Given the description of an element on the screen output the (x, y) to click on. 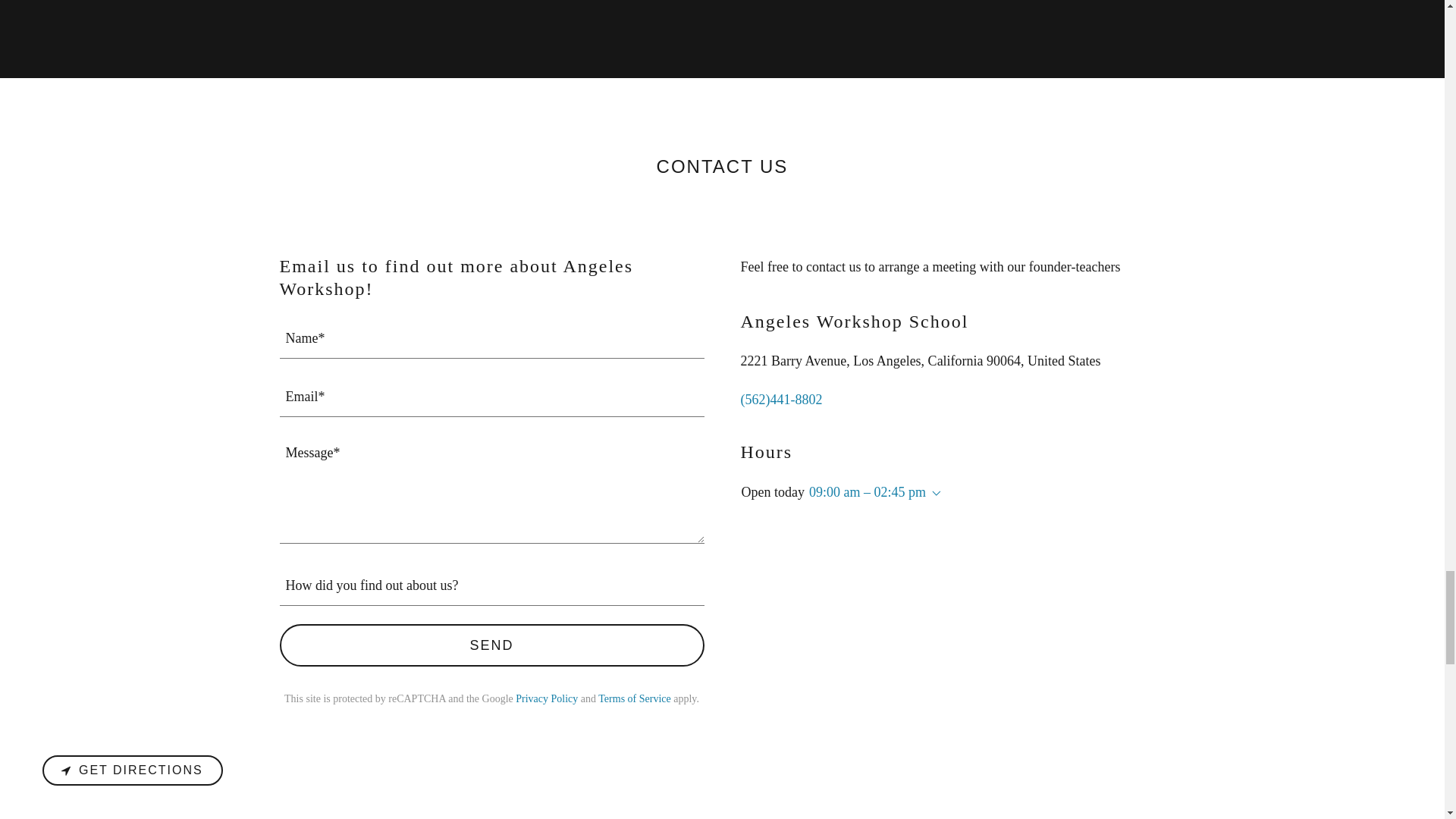
Terms of Service (633, 698)
SEND (491, 645)
Privacy Policy (546, 698)
